Given the description of an element on the screen output the (x, y) to click on. 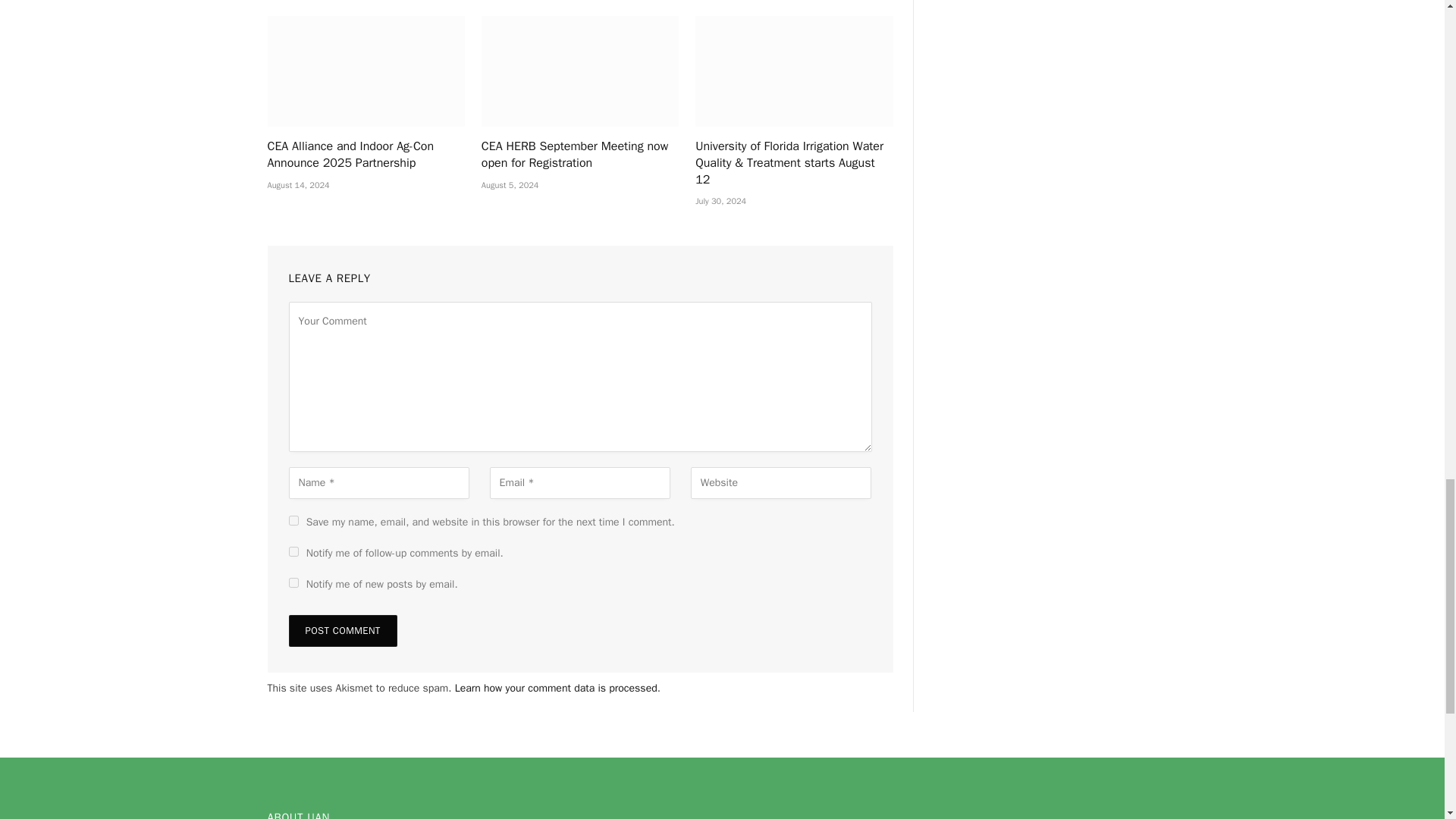
subscribe (293, 583)
yes (293, 520)
subscribe (293, 551)
Post Comment (342, 631)
